Given the description of an element on the screen output the (x, y) to click on. 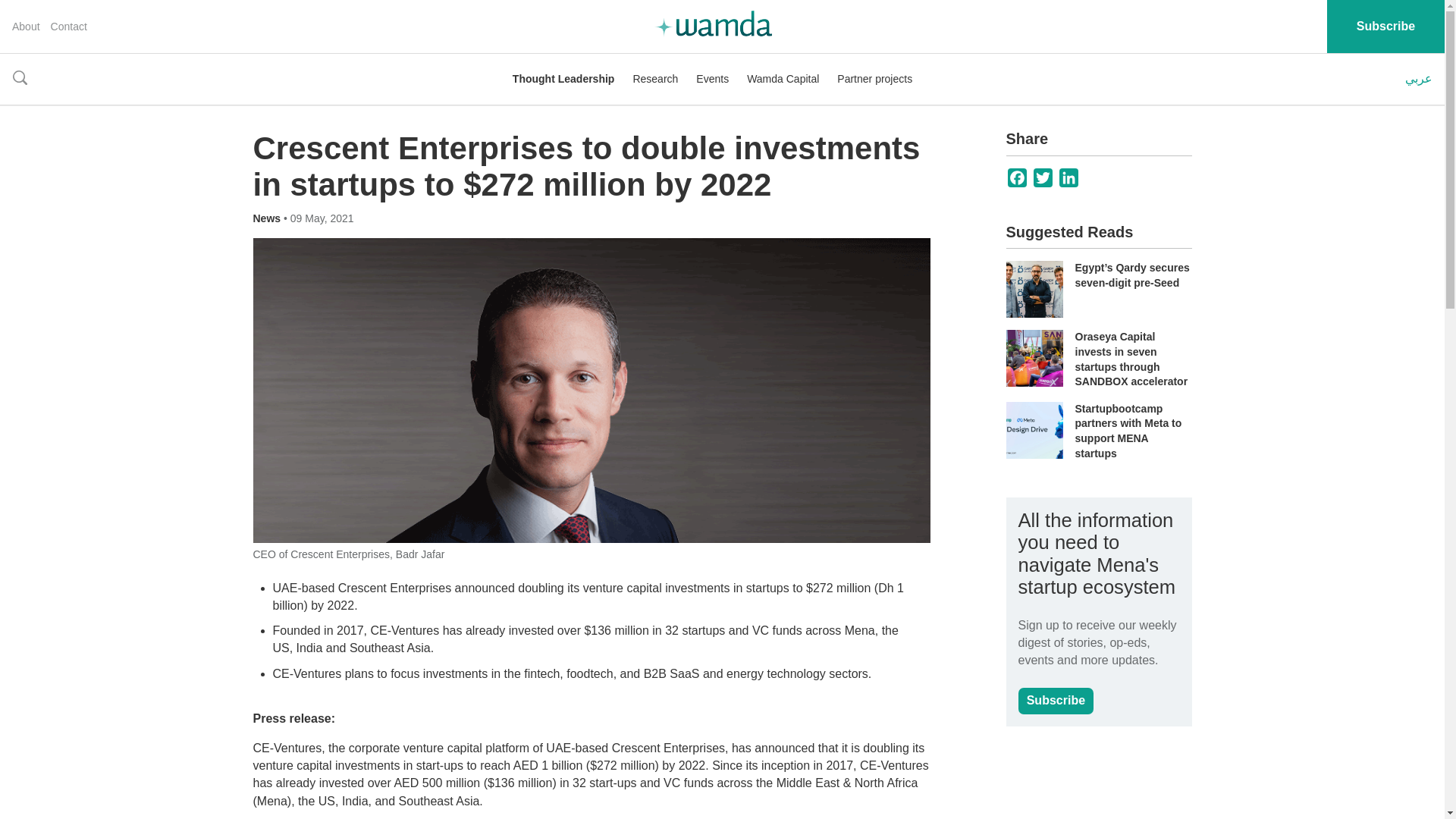
About (25, 26)
Subscribe (1055, 700)
Thought Leadership (563, 79)
Wamda Capital (782, 79)
Partner projects (874, 79)
Events (712, 79)
Research (654, 79)
News (268, 218)
Contact (68, 26)
Startupbootcamp partners with Meta to support MENA startups (1128, 430)
Twitter (1043, 177)
Facebook (1018, 177)
LinkedIn (1070, 177)
